Given the description of an element on the screen output the (x, y) to click on. 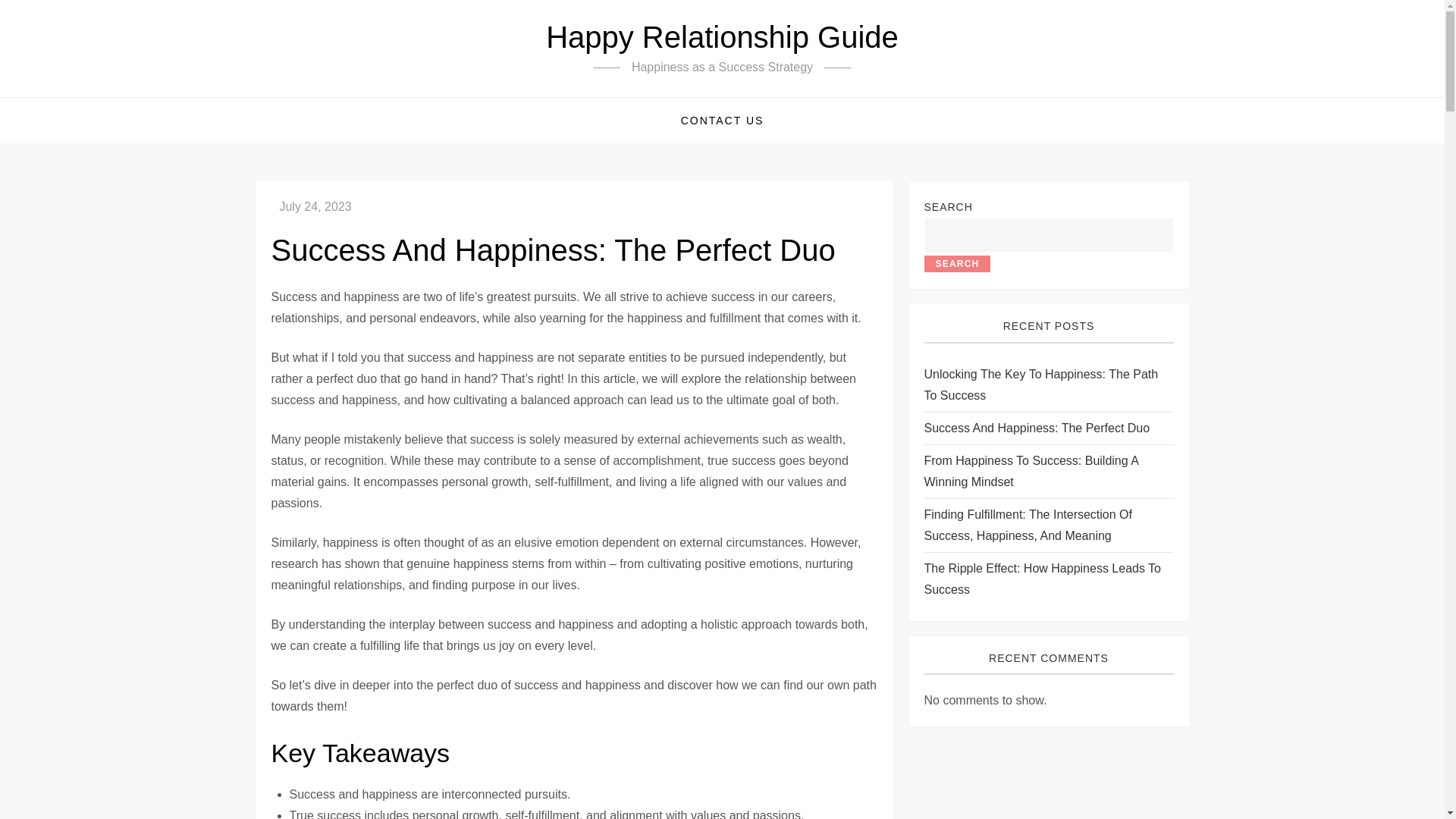
The Ripple Effect: How Happiness Leads To Success (1048, 578)
Success And Happiness: The Perfect Duo (1036, 427)
SEARCH (956, 263)
From Happiness To Success: Building A Winning Mindset (1048, 471)
Happy Relationship Guide (722, 37)
Unlocking The Key To Happiness: The Path To Success (1048, 384)
CONTACT US (722, 120)
July 24, 2023 (314, 205)
